Given the description of an element on the screen output the (x, y) to click on. 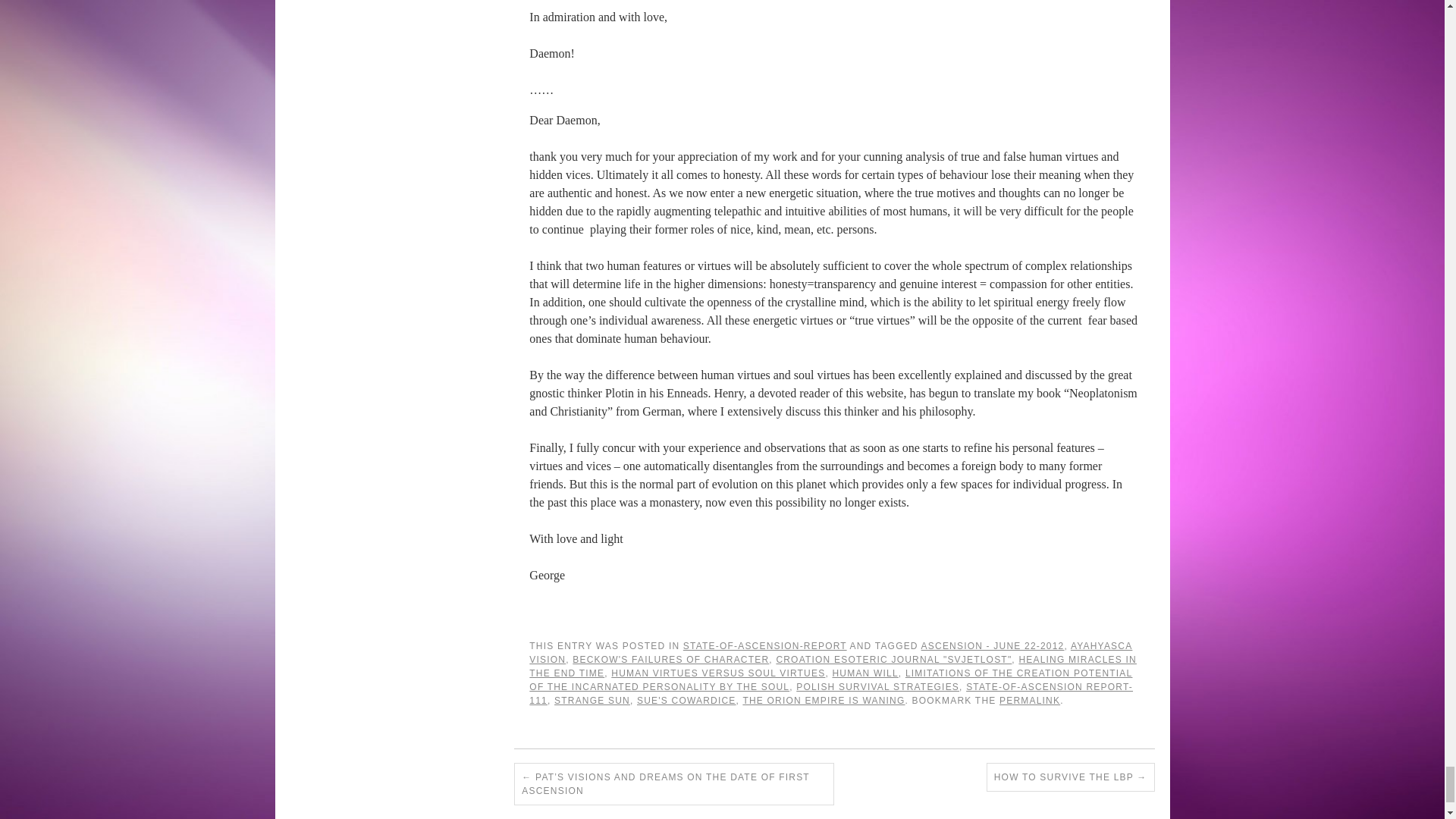
THE ORION EMPIRE IS WANING (823, 700)
STRANGE SUN (592, 700)
PERMALINK (1028, 700)
CROATION ESOTERIC JOURNAL "SVJETLOST" (893, 659)
STATE-OF-ASCENSION REPORT-111 (830, 693)
HUMAN WILL (864, 673)
STATE-OF-ASCENSION-REPORT (764, 645)
SUE'S COWARDICE (686, 700)
HEALING MIRACLES IN THE END TIME (833, 666)
